Given the description of an element on the screen output the (x, y) to click on. 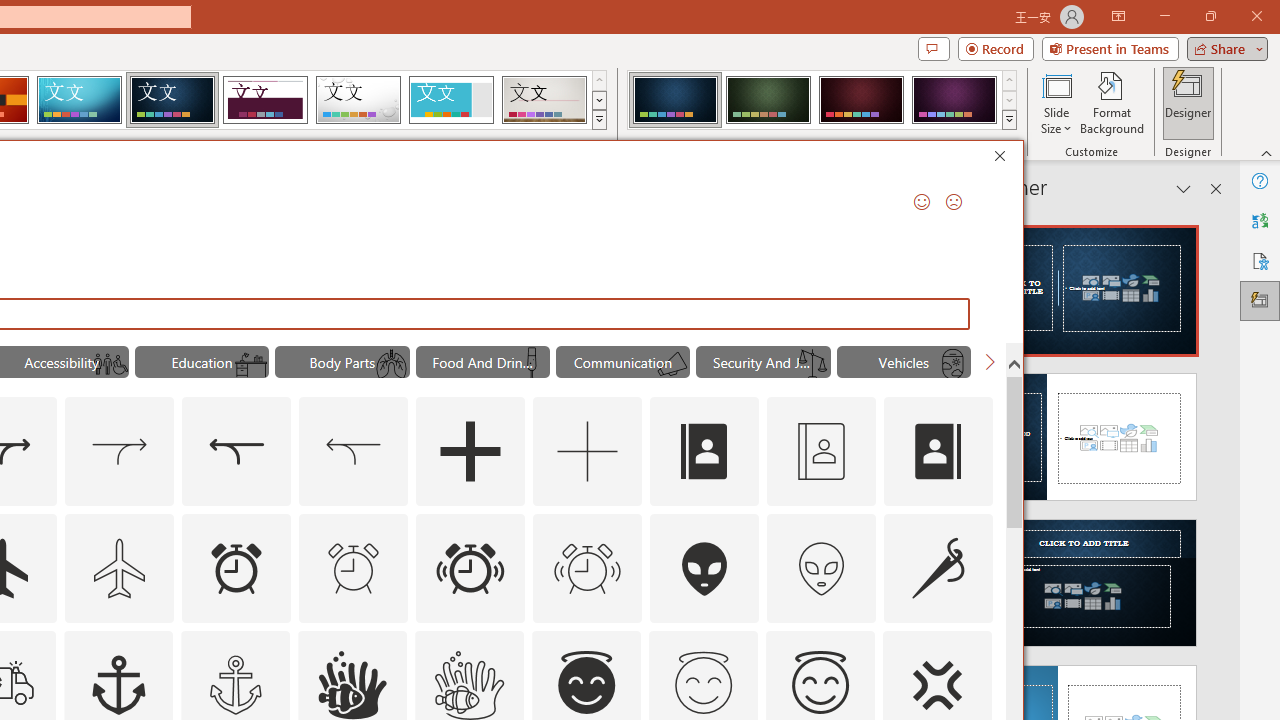
Next Search Suggestion (990, 362)
"Education" Icons. (201, 362)
AutomationID: Icons_Acquisition_RTL_M (353, 452)
AutomationID: Icons_Add_M (587, 452)
AutomationID: Icons_AlienFace_M (821, 568)
AutomationID: Icons_Acquisition_RTL (236, 452)
AutomationID: Icons_Acquisition_LTR_M (120, 452)
AutomationID: Icons_AlarmRinging (470, 568)
"Security And Justice" Icons. (763, 362)
